Given the description of an element on the screen output the (x, y) to click on. 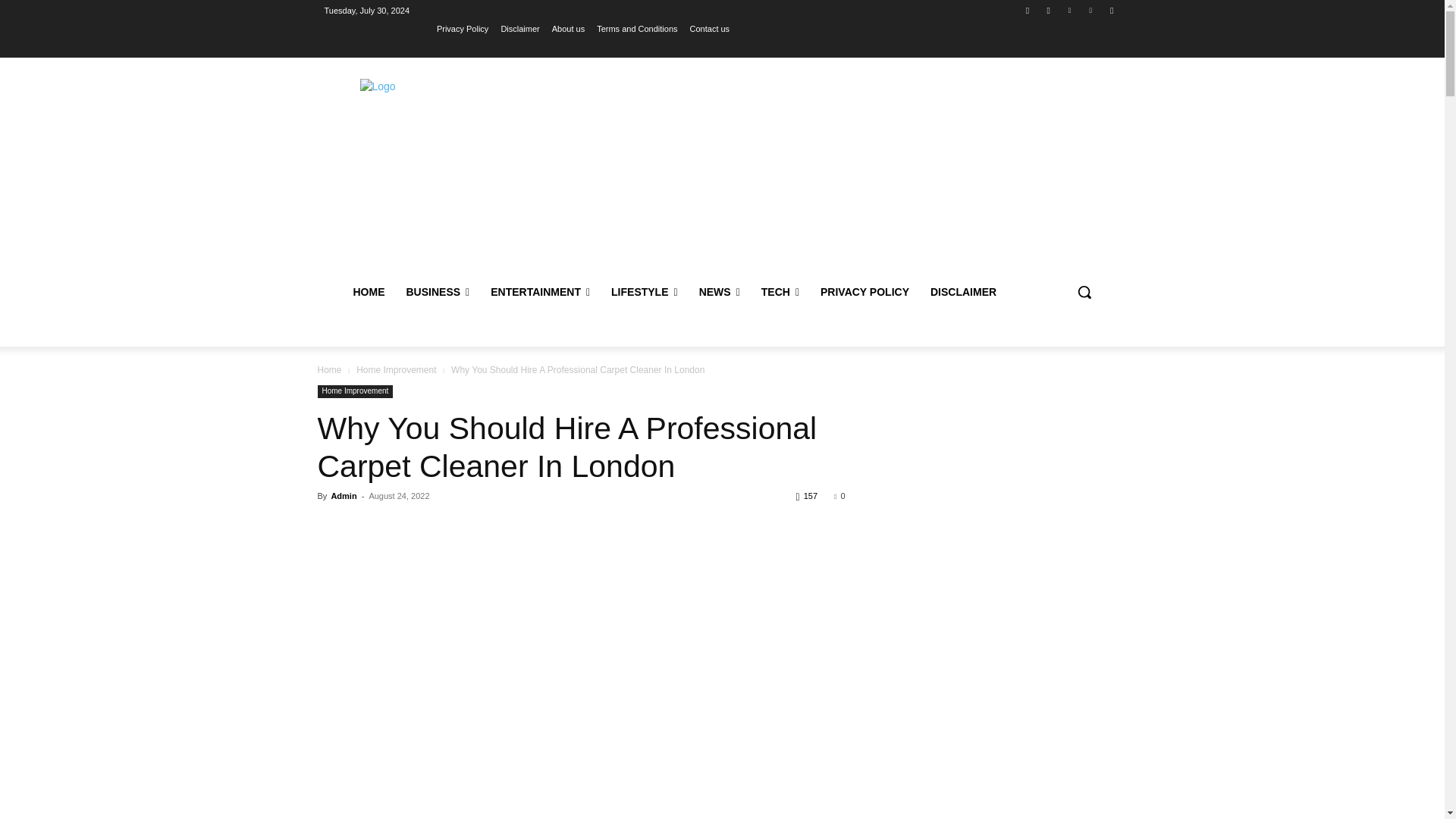
Facebook (1027, 9)
Youtube (1112, 9)
View all posts in Home Improvement (395, 369)
Instagram (1048, 9)
Vimeo (1090, 9)
Twitter (1069, 9)
